Given the description of an element on the screen output the (x, y) to click on. 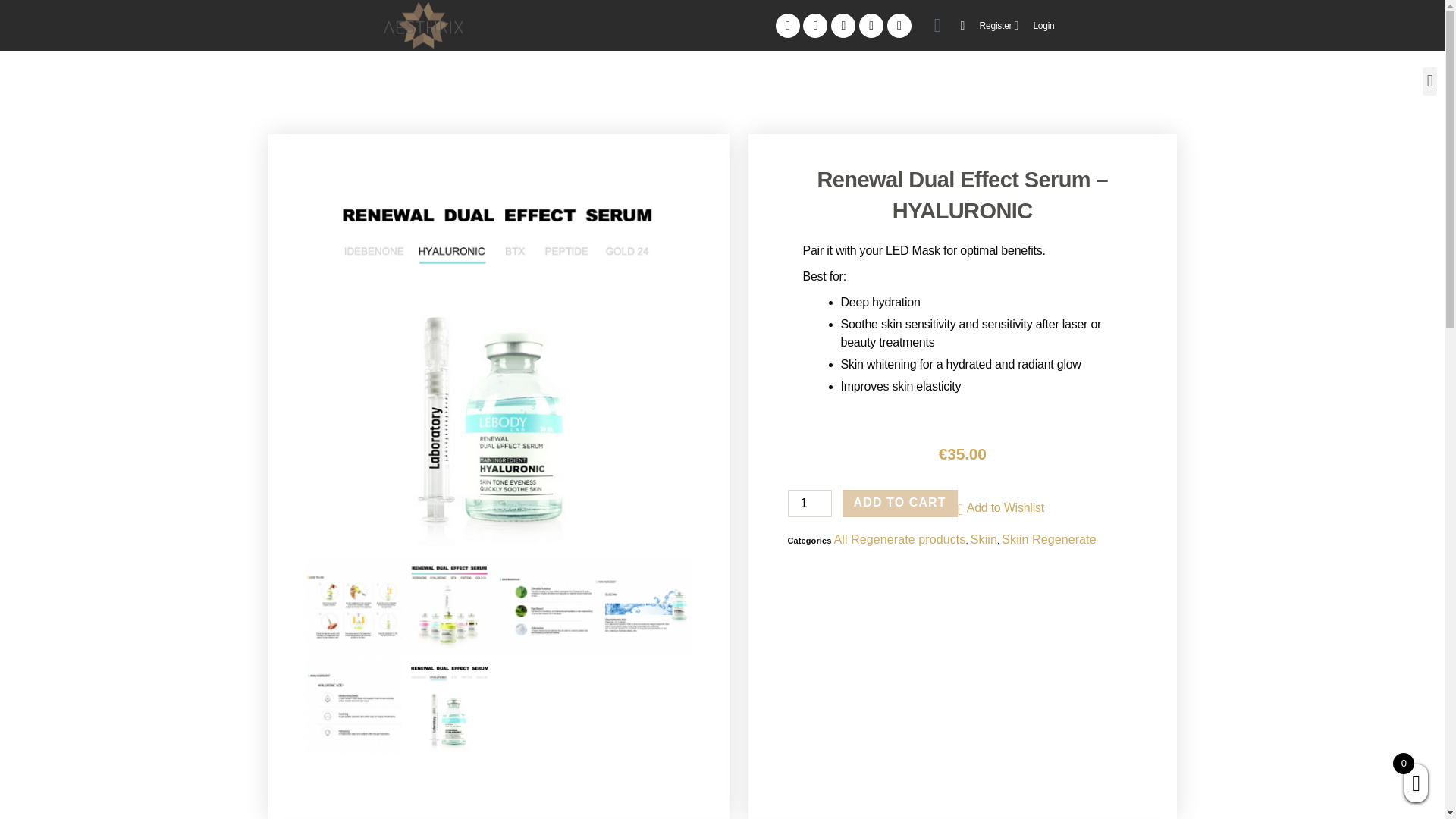
9 (642, 605)
Qty (809, 502)
cropped-text-mid-star-1.png (424, 25)
Login (1033, 24)
Register (985, 24)
8 (352, 705)
10 (545, 605)
1 (809, 502)
7 (449, 705)
